Given the description of an element on the screen output the (x, y) to click on. 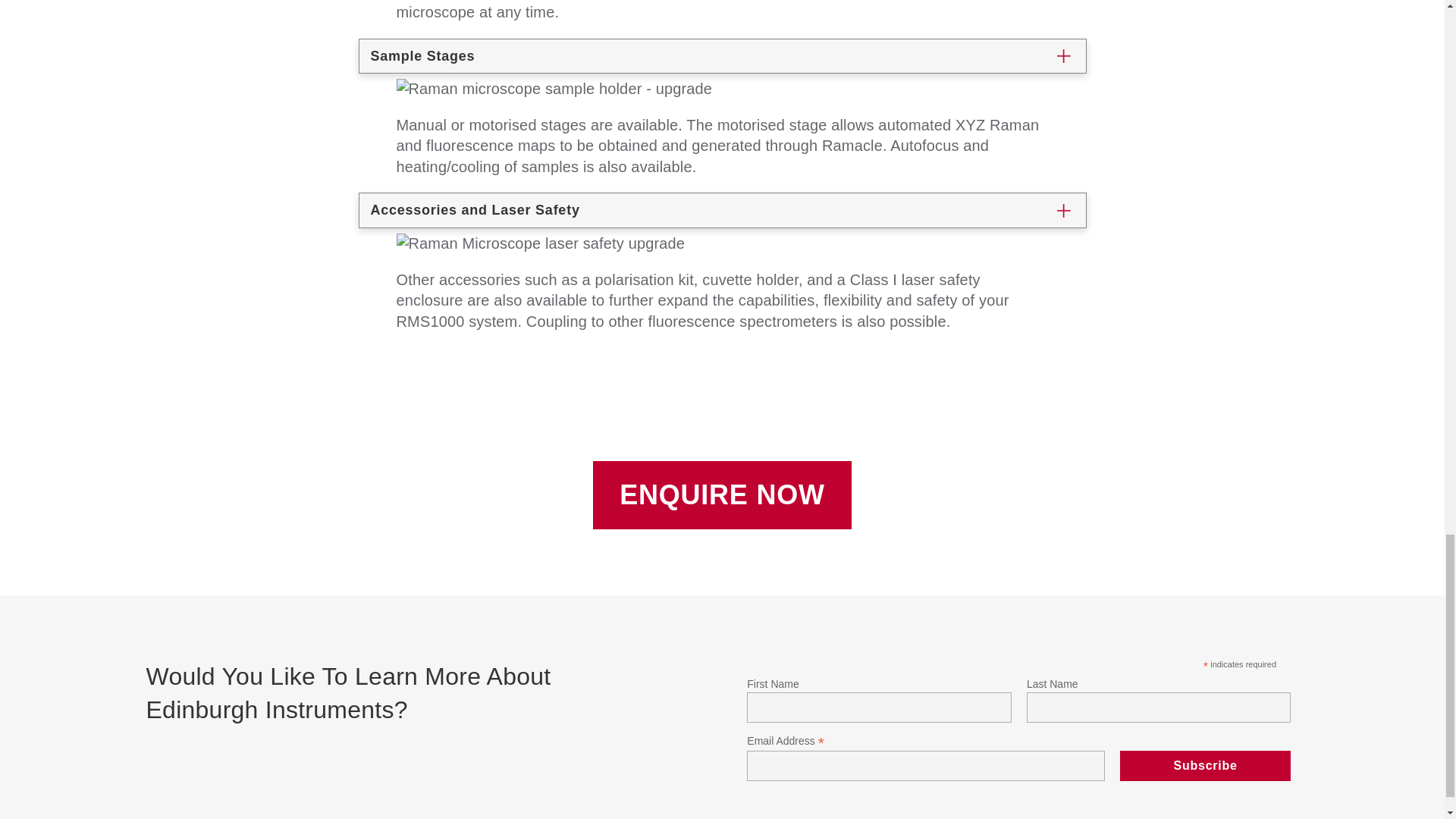
Subscribe (1205, 766)
